Given the description of an element on the screen output the (x, y) to click on. 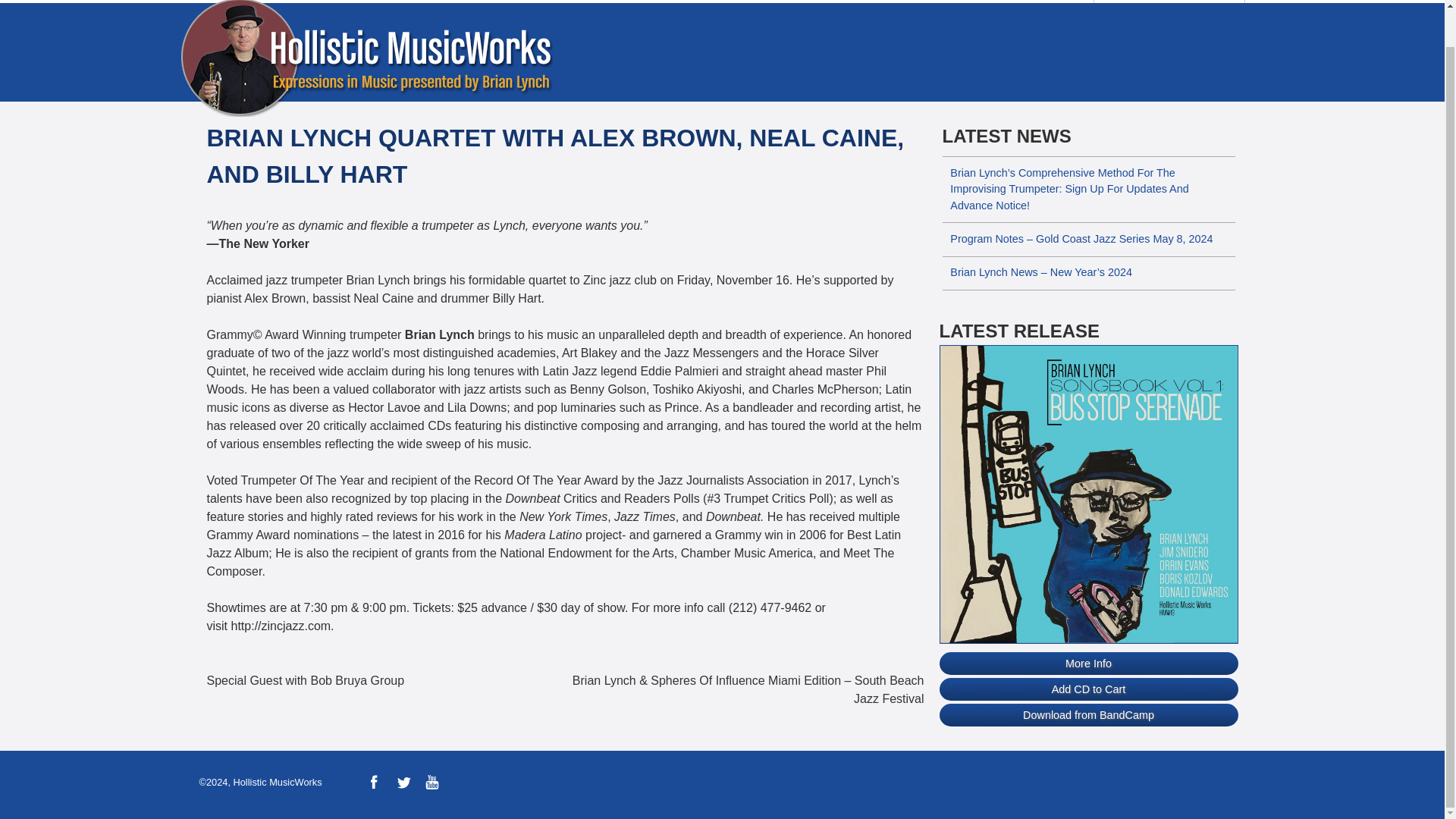
Twitter (402, 782)
Download from BandCamp (1088, 714)
EVENTS (668, 1)
Add CD to Cart (1088, 689)
More Info (1088, 662)
ABOUT (319, 1)
YouTube (432, 782)
Special Guest with Bob Bruya Group (385, 680)
CATALOG (494, 1)
STORE (750, 1)
NEWS (244, 1)
VIDEOS (583, 1)
Facebook (373, 782)
View your shopping cart (1184, 1)
ARTISTS (404, 1)
